Given the description of an element on the screen output the (x, y) to click on. 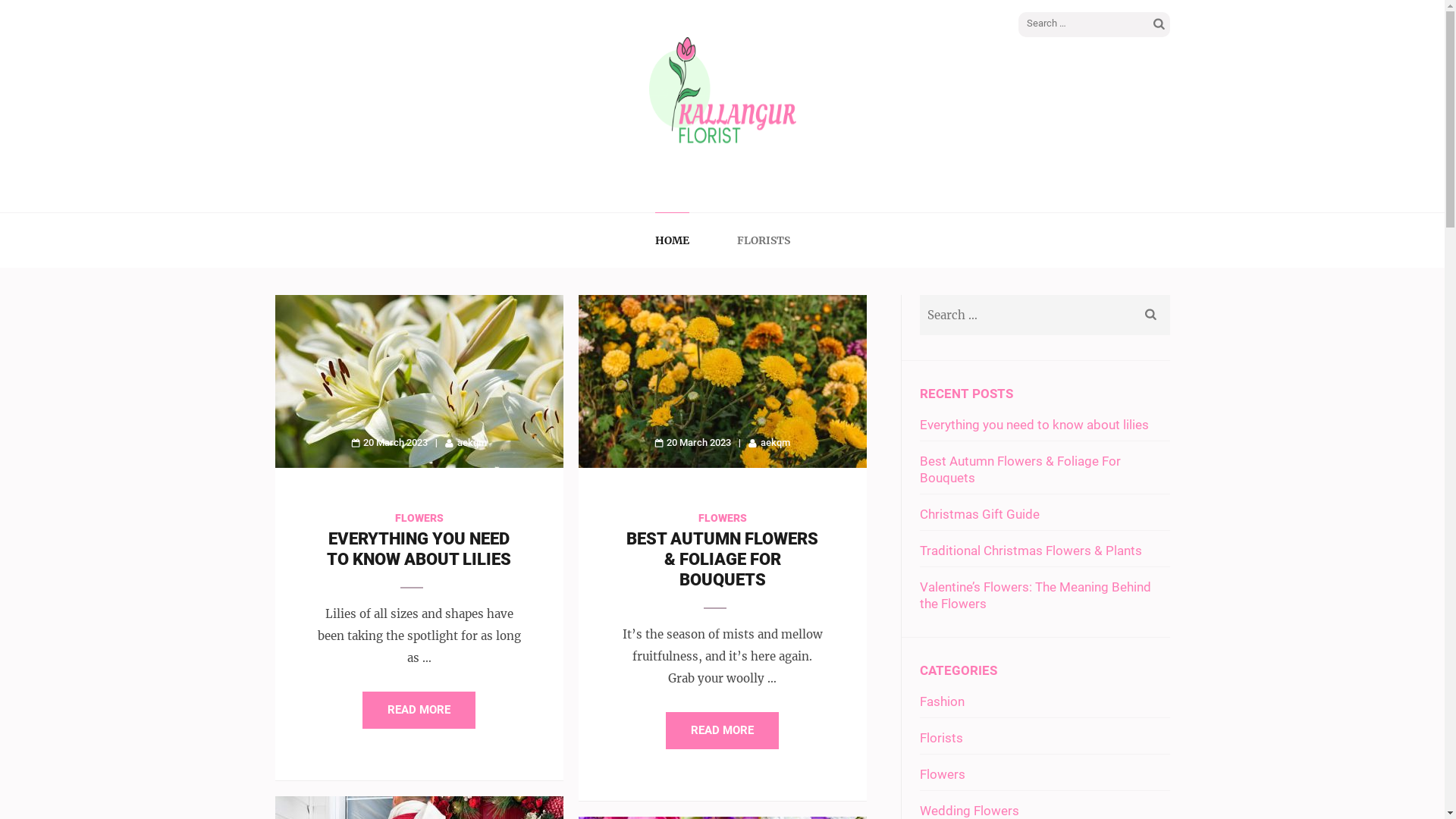
aekqm Element type: text (769, 442)
READ MORE Element type: text (418, 709)
BEST AUTUMN FLOWERS & FOLIAGE FOR BOUQUETS Element type: text (722, 559)
20 March 2023 Element type: text (389, 442)
20 March 2023 Element type: text (692, 442)
FLOWERS Element type: text (418, 517)
Best Autumn Flowers & Foliage For Bouquets Element type: text (1019, 469)
EVERYTHING YOU NEED TO KNOW ABOUT LILIES Element type: text (418, 548)
FLORISTS Element type: text (763, 240)
Traditional Christmas Flowers & Plants Element type: text (1030, 550)
READ MORE Element type: text (721, 730)
Wedding Flowers Element type: text (968, 810)
Search Element type: text (1150, 315)
HOME Element type: text (672, 239)
Fashion Element type: text (941, 701)
Christmas Gift Guide Element type: text (978, 513)
Search Element type: text (1158, 24)
aekqm Element type: text (465, 442)
FLOWERS Element type: text (721, 517)
Flowers Element type: text (941, 773)
Everything you need to know about lilies Element type: text (1033, 424)
Florists Element type: text (940, 737)
